Given the description of an element on the screen output the (x, y) to click on. 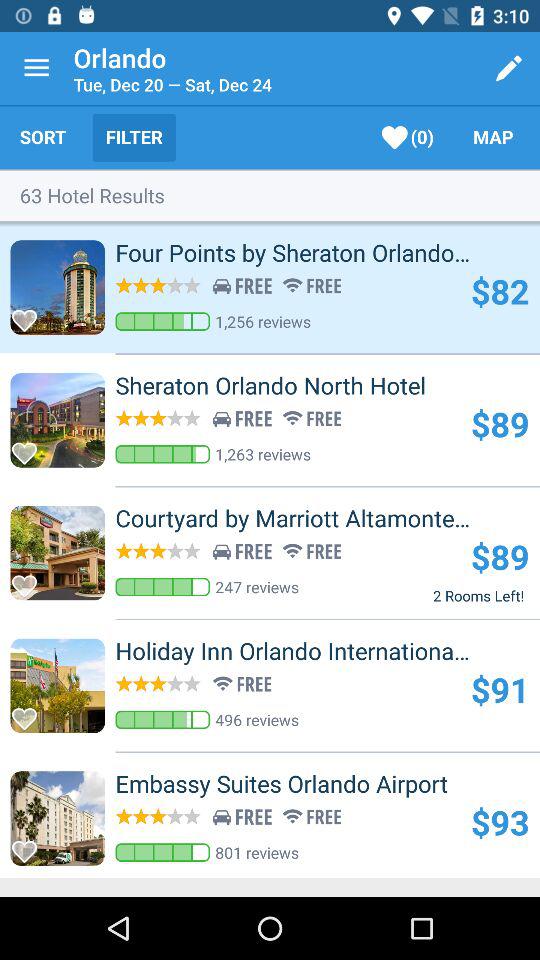
select the icon next to the 496 reviews (500, 689)
